Given the description of an element on the screen output the (x, y) to click on. 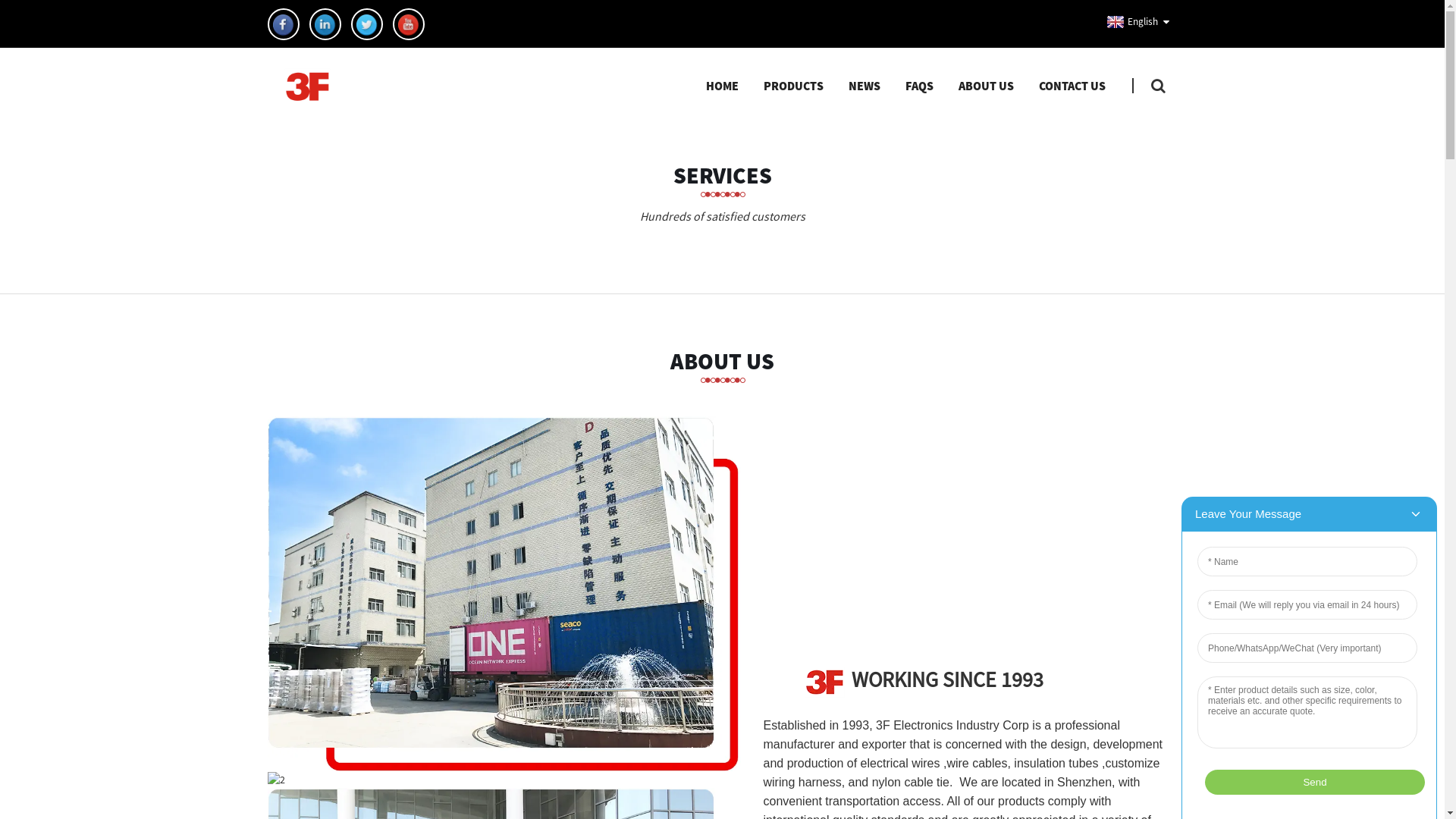
FAQS Element type: text (918, 85)
CONTACT US Element type: text (1071, 85)
PRODUCTS Element type: text (793, 85)
English Element type: text (1129, 21)
ABOUT US Element type: text (722, 360)
WORKING SINCE 1993 Element type: text (902, 678)
NEWS Element type: text (864, 85)
ABOUT US Element type: text (985, 85)
HOME Element type: text (721, 85)
